Given the description of an element on the screen output the (x, y) to click on. 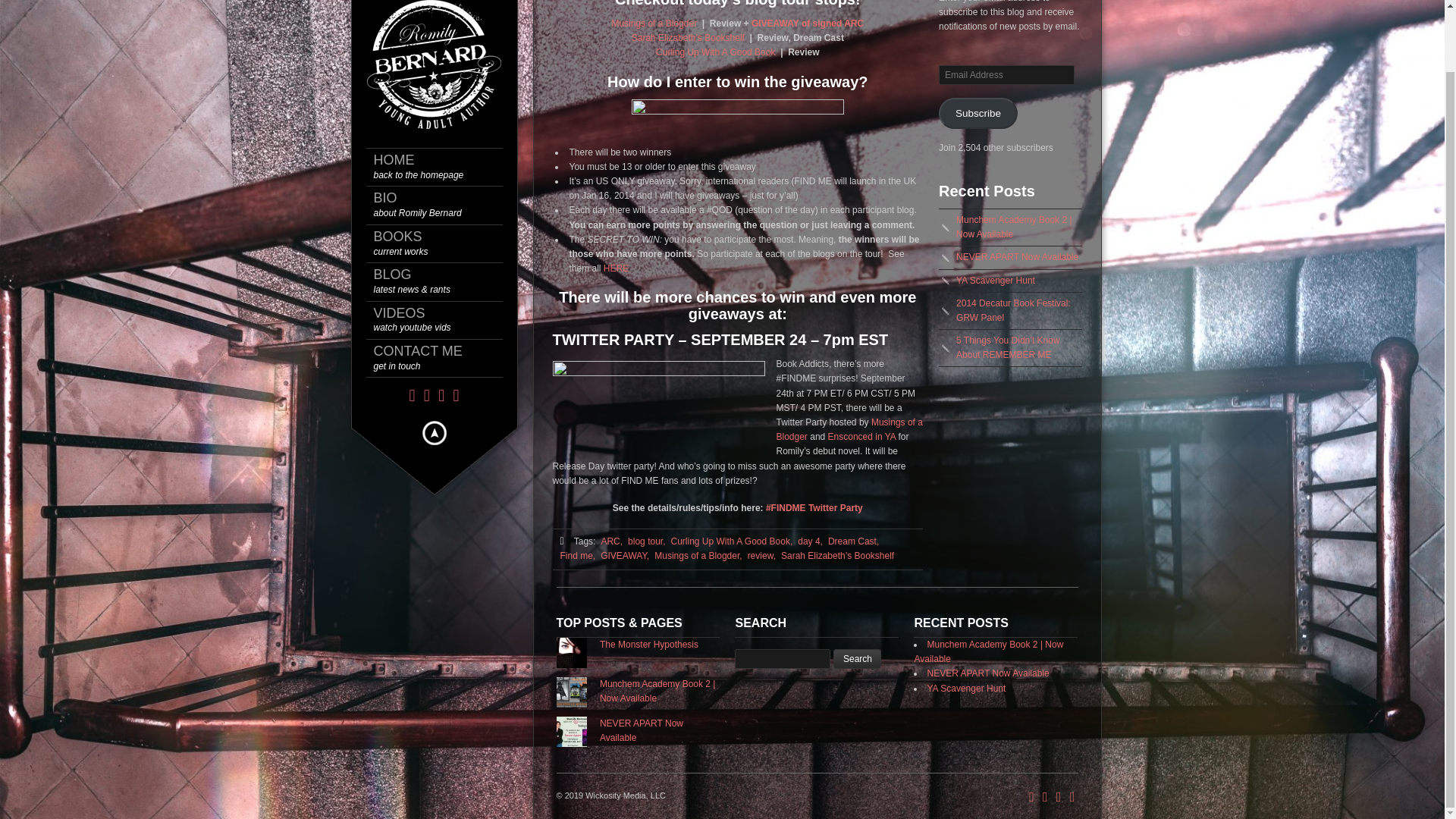
Curling Up With A Good Book Tag (730, 541)
sarah elizabeths bookshelf (687, 37)
GIVEAWAY Tag (624, 555)
Dream Cast Tag (853, 541)
Find me Tag (577, 555)
Romily Bernard (433, 30)
Musings of a Blogder Tag (697, 555)
ARC Tag (440, 290)
musings of a blogder (611, 541)
Search (654, 23)
curling up with a good book (440, 176)
Hide the navigation (440, 137)
